Given the description of an element on the screen output the (x, y) to click on. 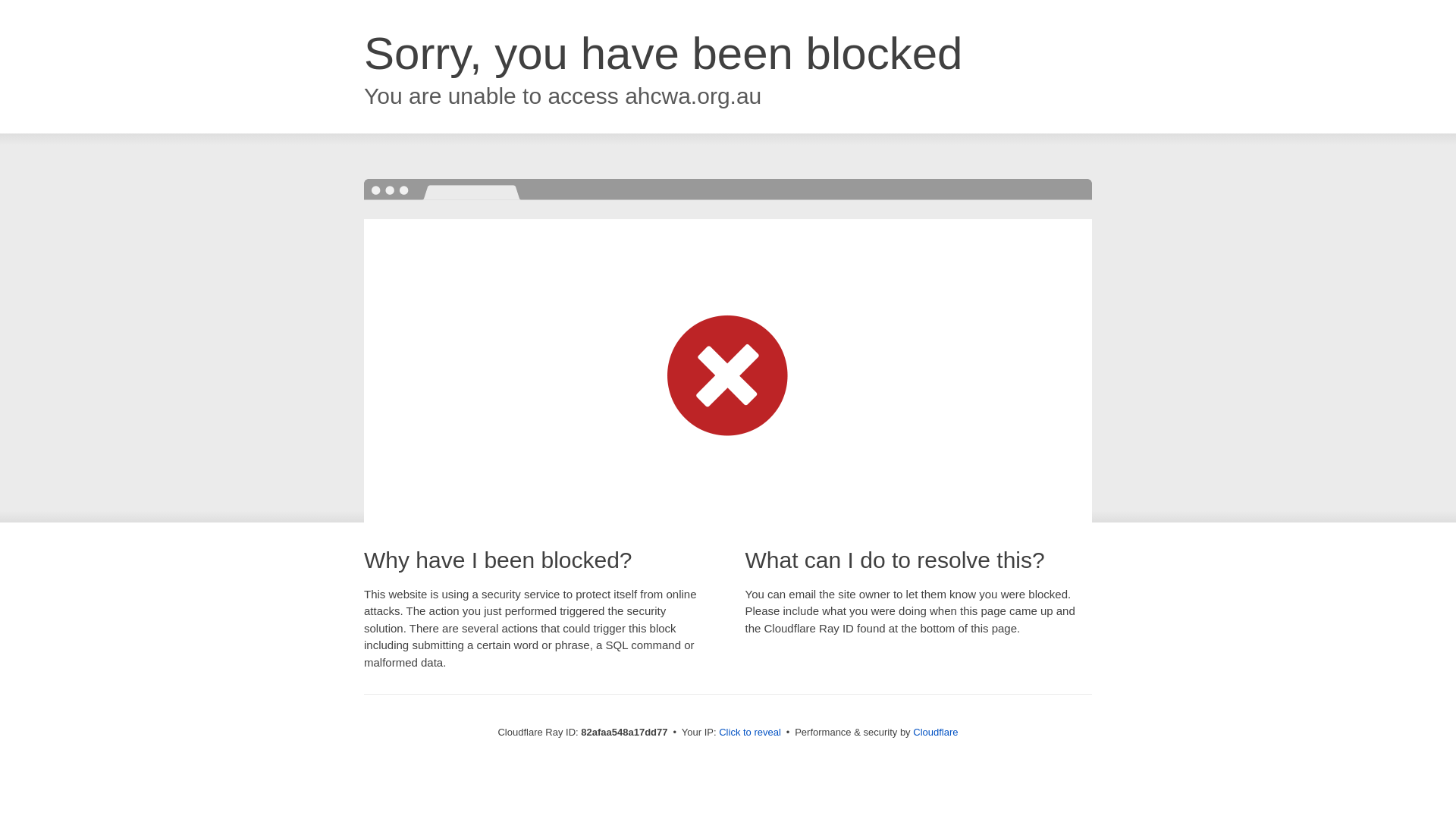
Click to reveal Element type: text (749, 732)
Cloudflare Element type: text (935, 731)
